Given the description of an element on the screen output the (x, y) to click on. 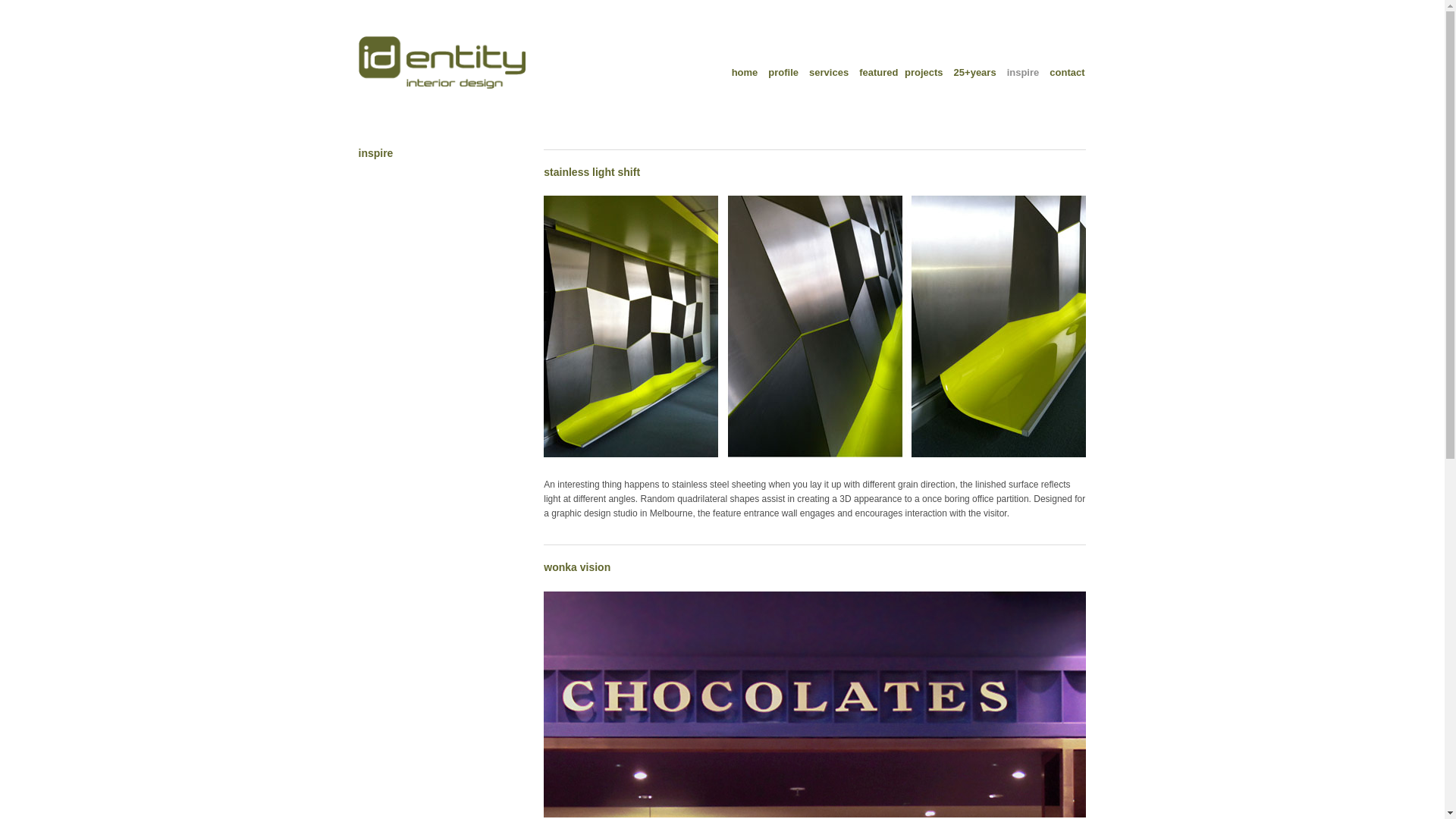
contact Element type: text (1070, 73)
25+years Element type: text (978, 73)
home Element type: text (748, 73)
inspire Element type: text (1027, 73)
Hahndorf's Chocolates purple ripple  Element type: hover (814, 704)
featured projects Element type: text (904, 73)
services Element type: text (832, 73)
profile Element type: text (787, 73)
